Given the description of an element on the screen output the (x, y) to click on. 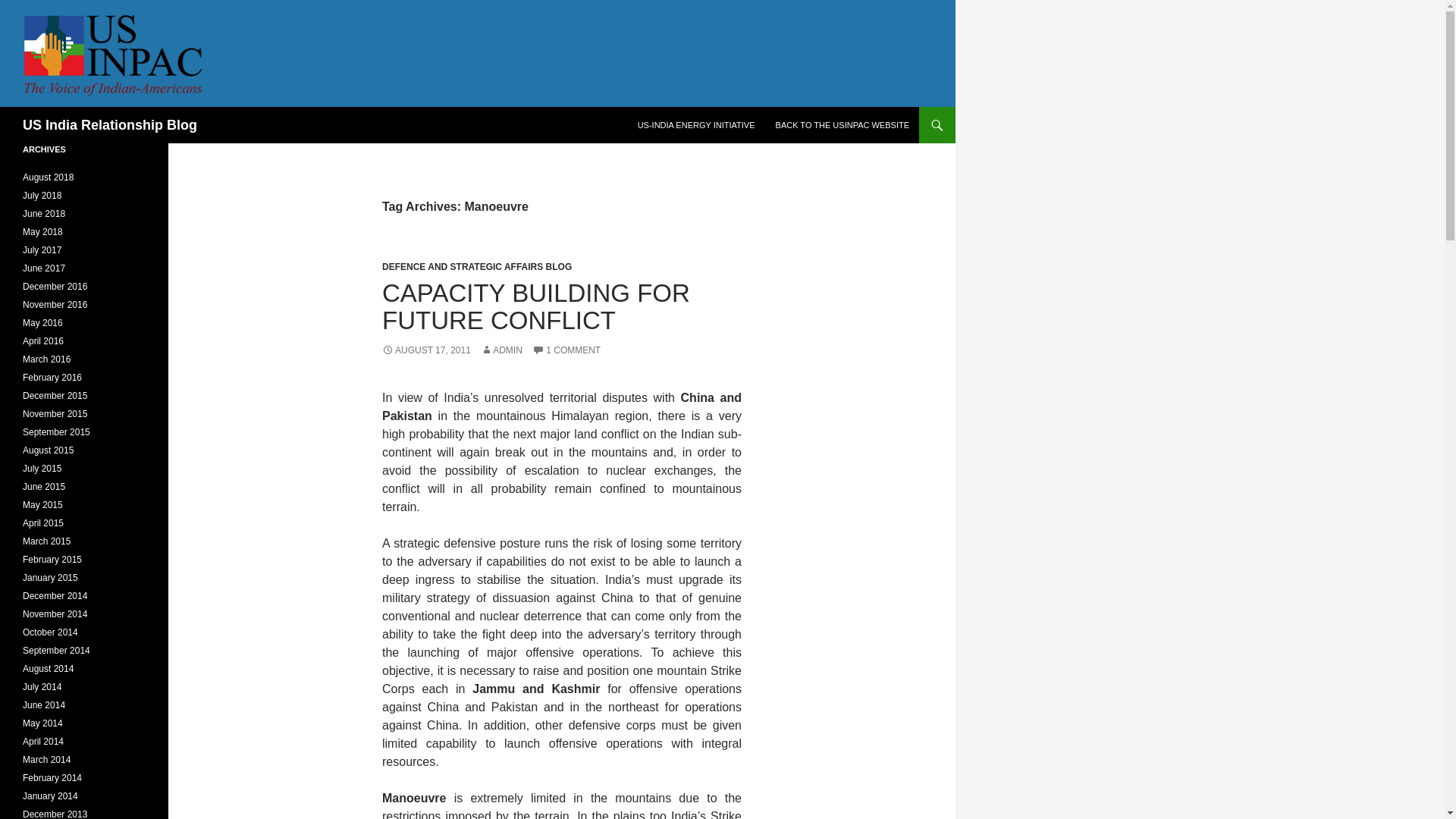
February 2016 (52, 377)
March 2016 (46, 358)
1 COMMENT (565, 349)
BACK TO THE USINPAC WEBSITE (842, 125)
AUGUST 17, 2011 (425, 349)
ADMIN (501, 349)
November 2016 (55, 304)
Comment on Capacity Building for Future Conflict (565, 349)
December 2015 (55, 395)
